Given the description of an element on the screen output the (x, y) to click on. 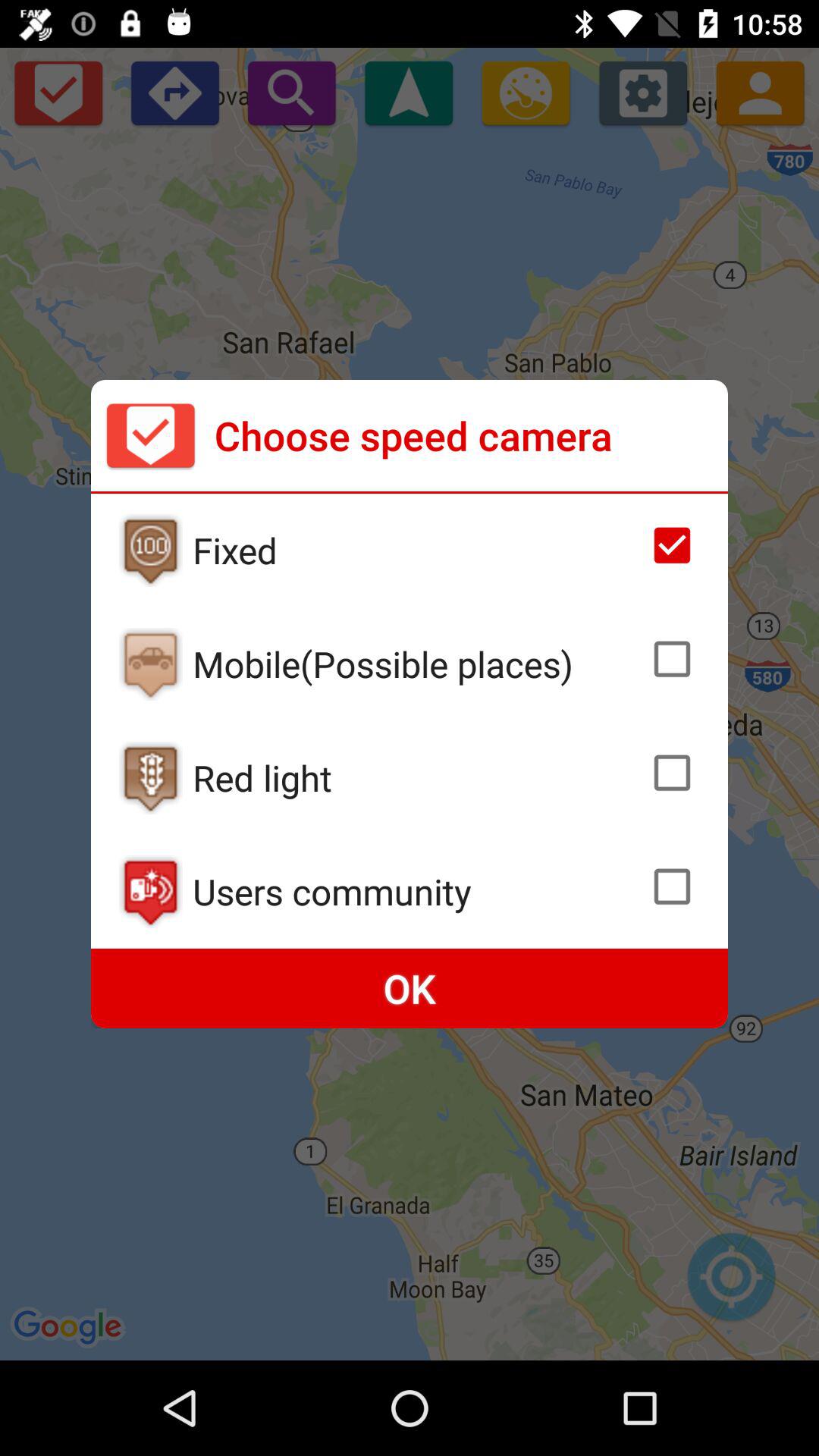
toggle check box (672, 772)
